Given the description of an element on the screen output the (x, y) to click on. 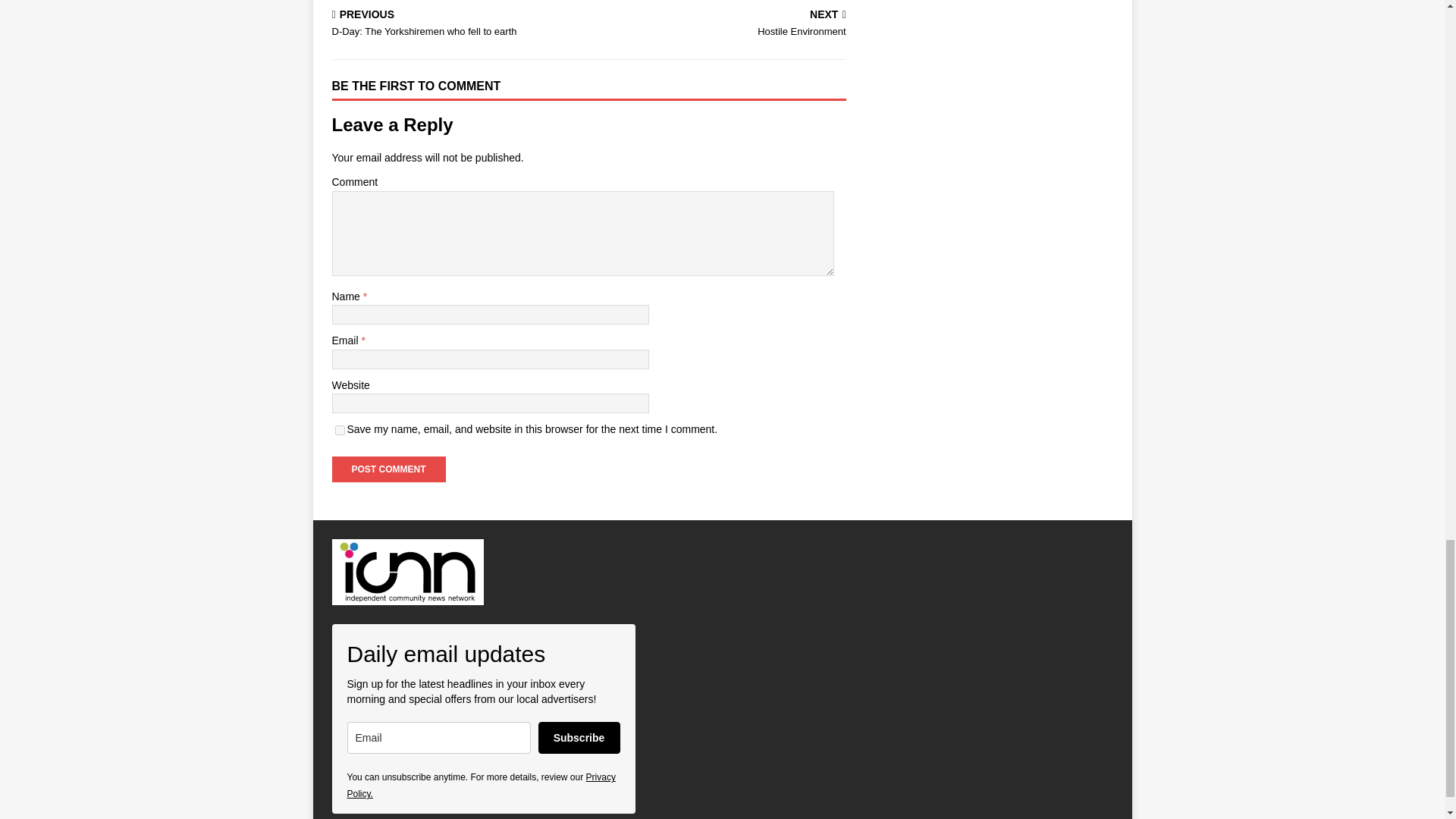
yes (339, 429)
Post Comment (388, 469)
